Given the description of an element on the screen output the (x, y) to click on. 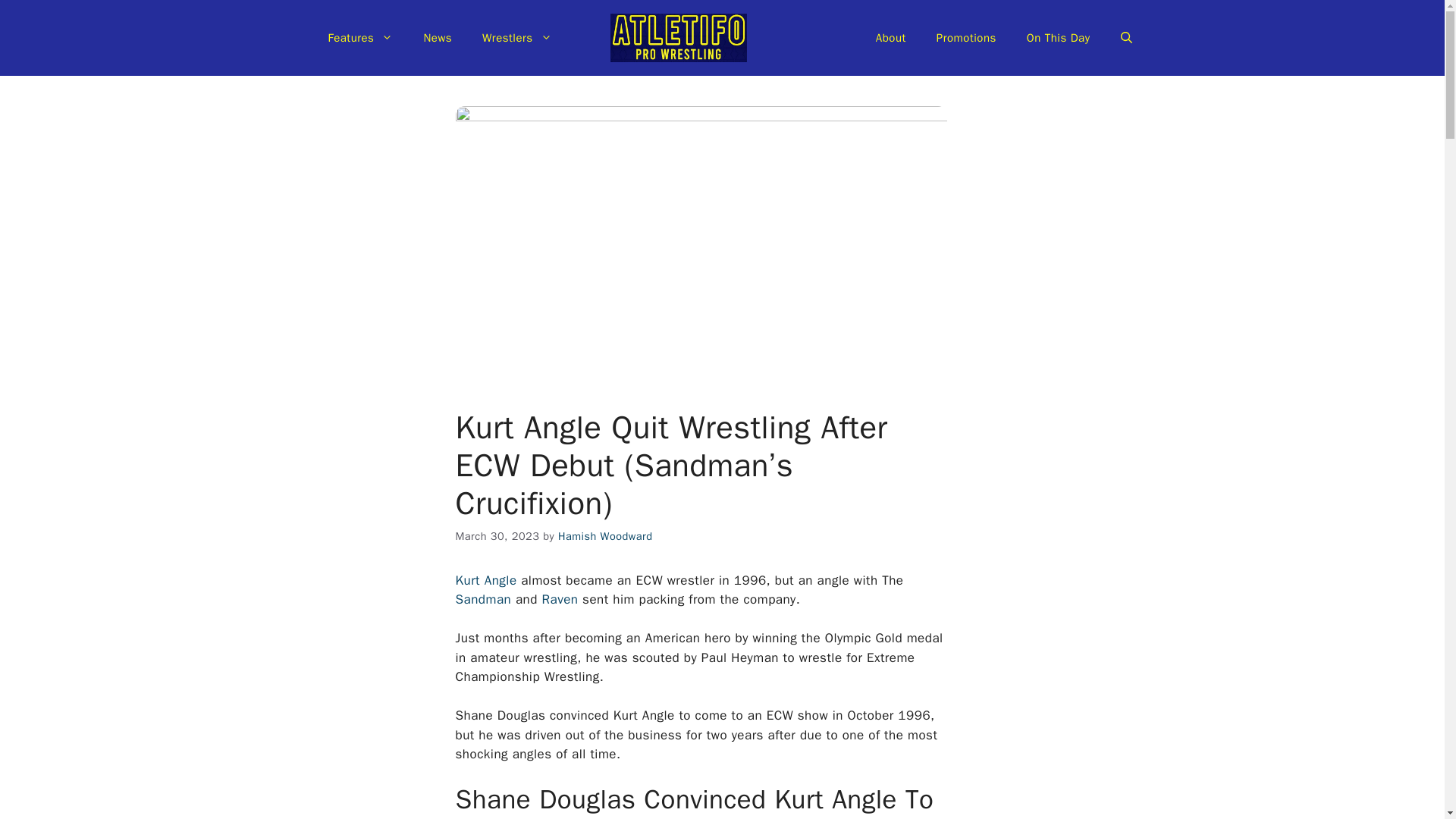
Hamish Woodward (604, 535)
Promotions (966, 37)
About (890, 37)
Kurt Angle (485, 580)
Sandman (484, 599)
News (437, 37)
View all posts by Hamish Woodward (604, 535)
Features (360, 37)
Wrestlers (517, 37)
Raven (561, 599)
